Given the description of an element on the screen output the (x, y) to click on. 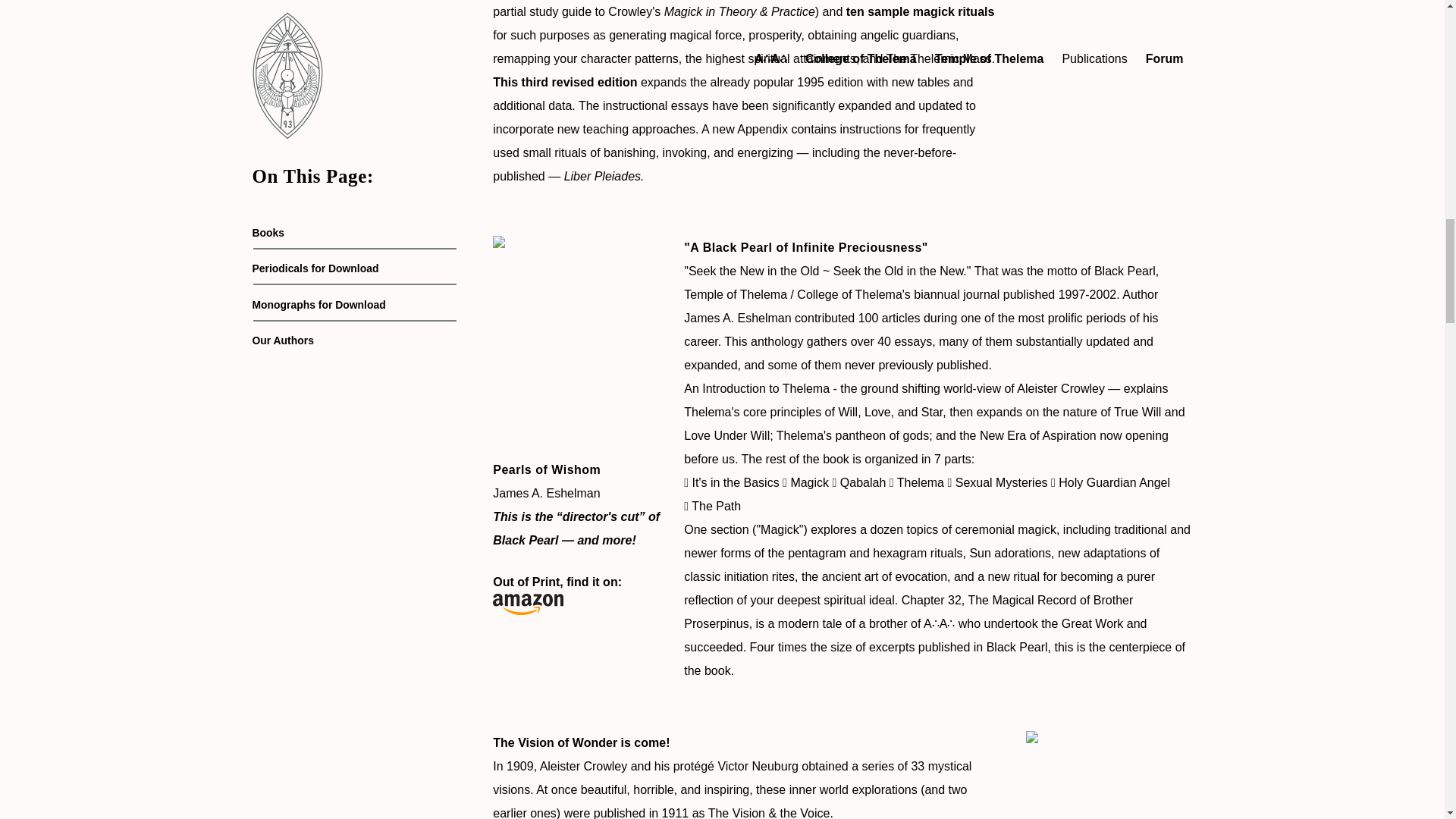
Find Pearls of Wisdom on Amazon (576, 592)
Out of Print, find it on: (576, 592)
